Given the description of an element on the screen output the (x, y) to click on. 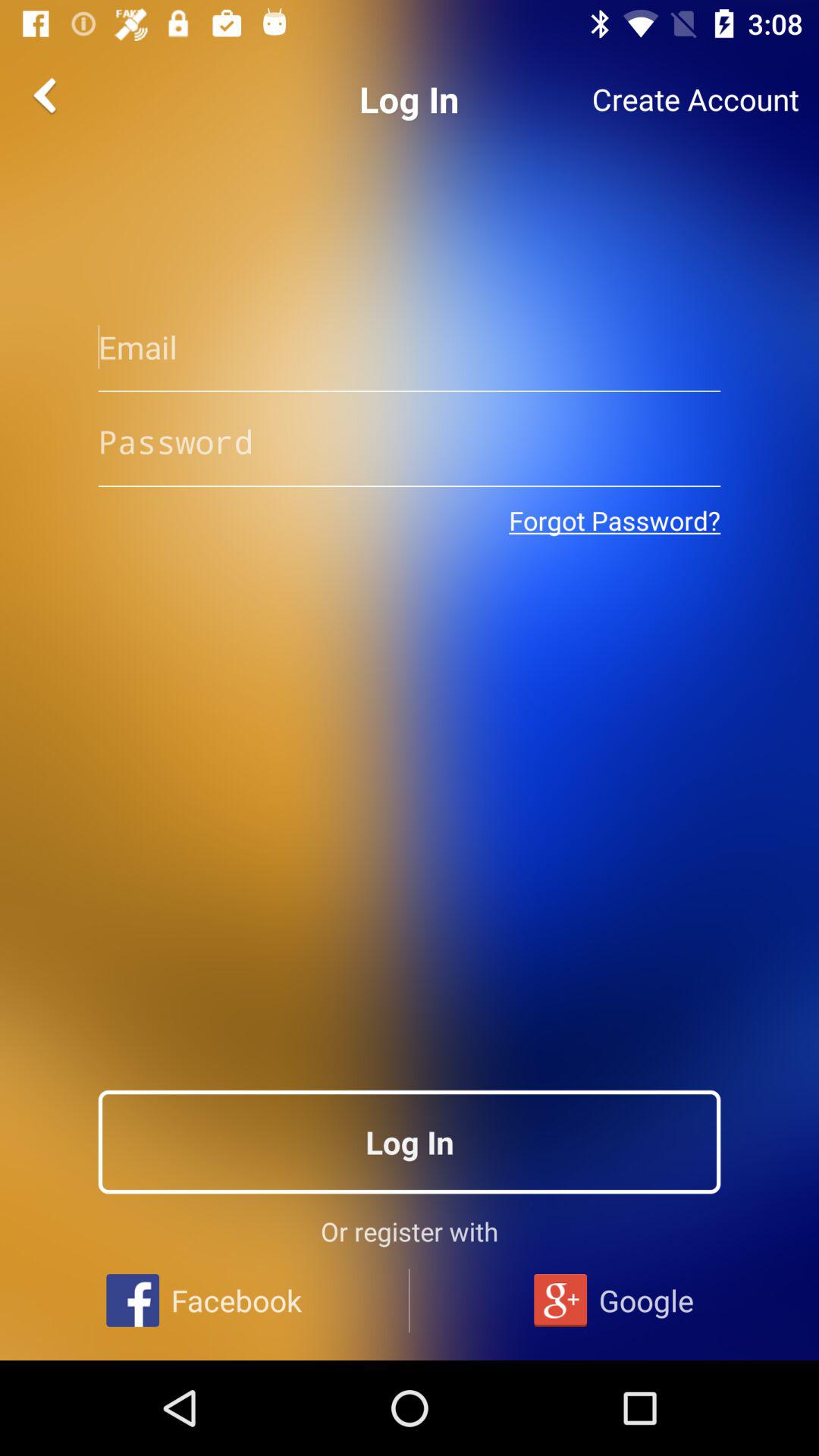
turn off the item to the right of the log in icon (695, 99)
